Given the description of an element on the screen output the (x, y) to click on. 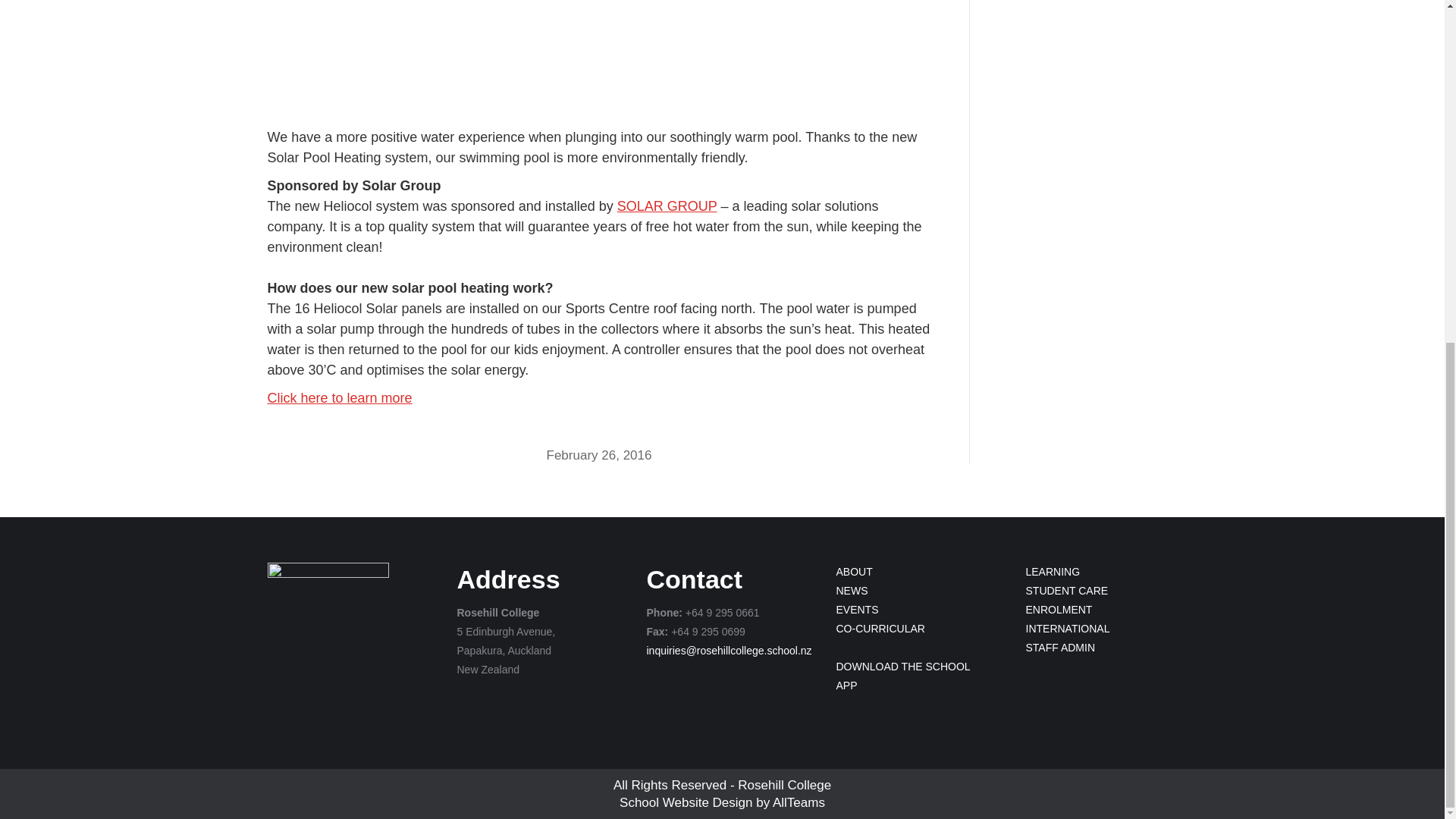
Website Design, AllTeams (799, 802)
Auckland NZ Website Design, School Website Designers (686, 802)
